Given the description of an element on the screen output the (x, y) to click on. 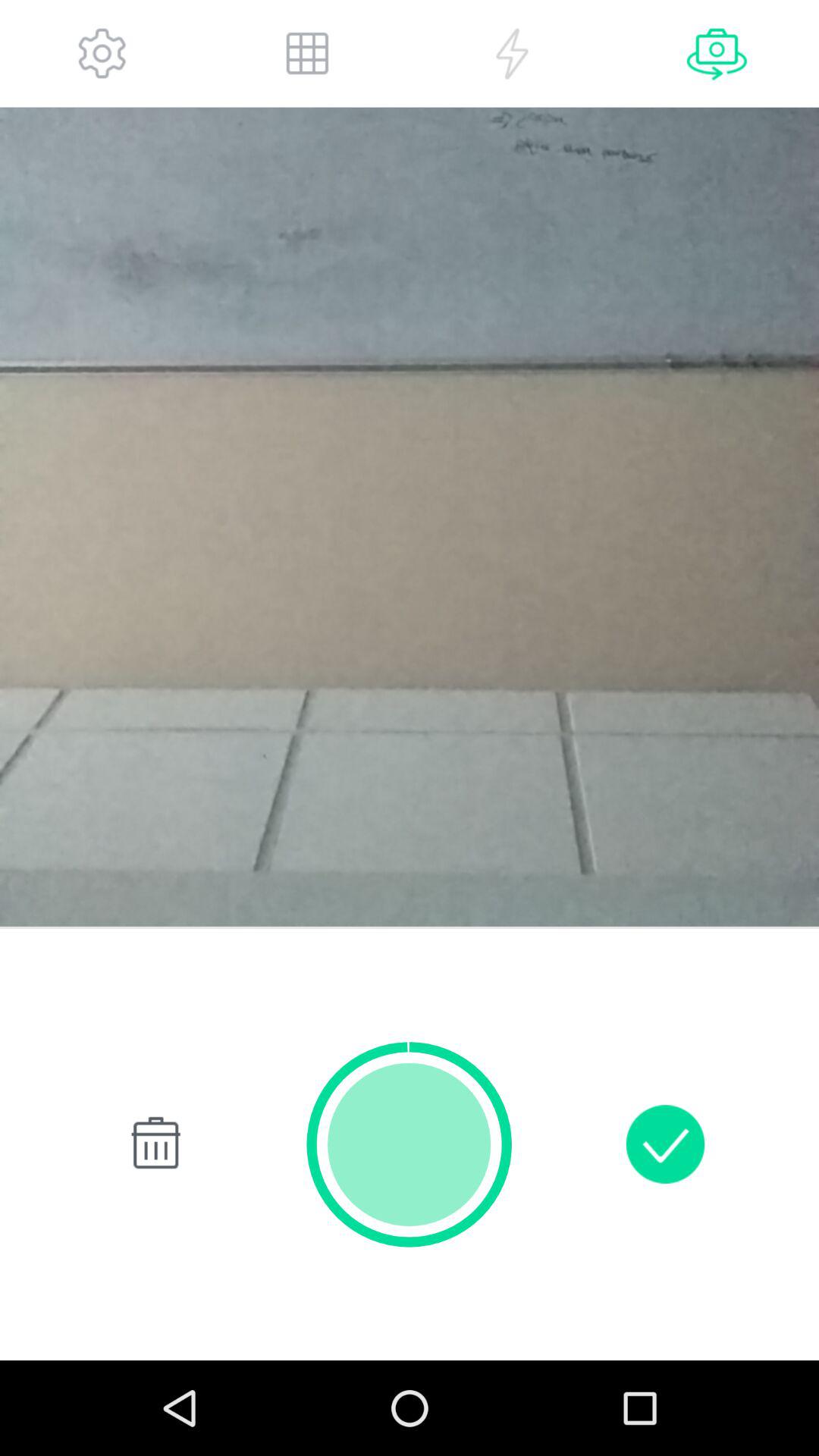
go to delete box (152, 1144)
